Given the description of an element on the screen output the (x, y) to click on. 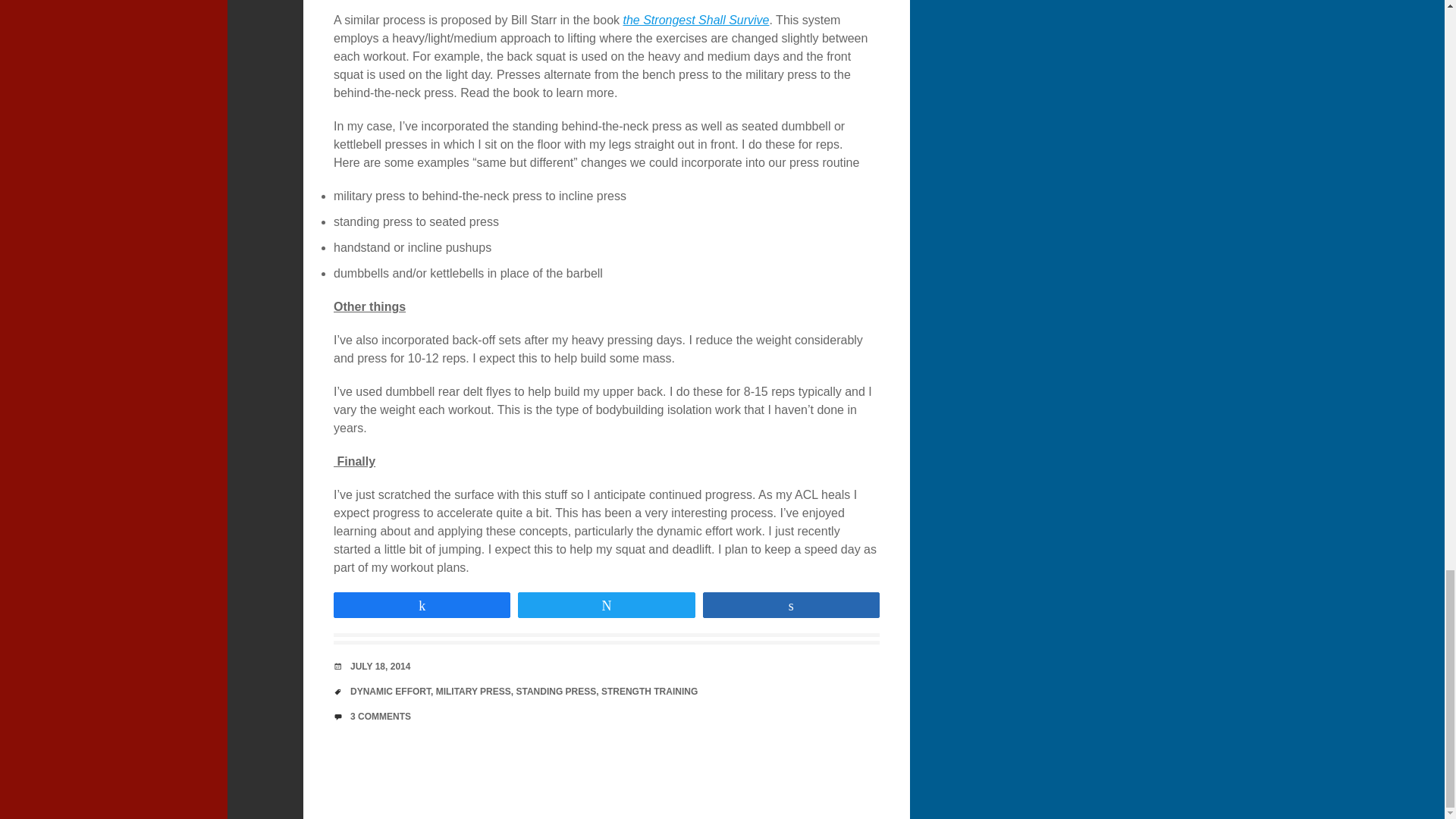
6:13 pm (380, 665)
the Strongest Shall Survive (696, 19)
